Given the description of an element on the screen output the (x, y) to click on. 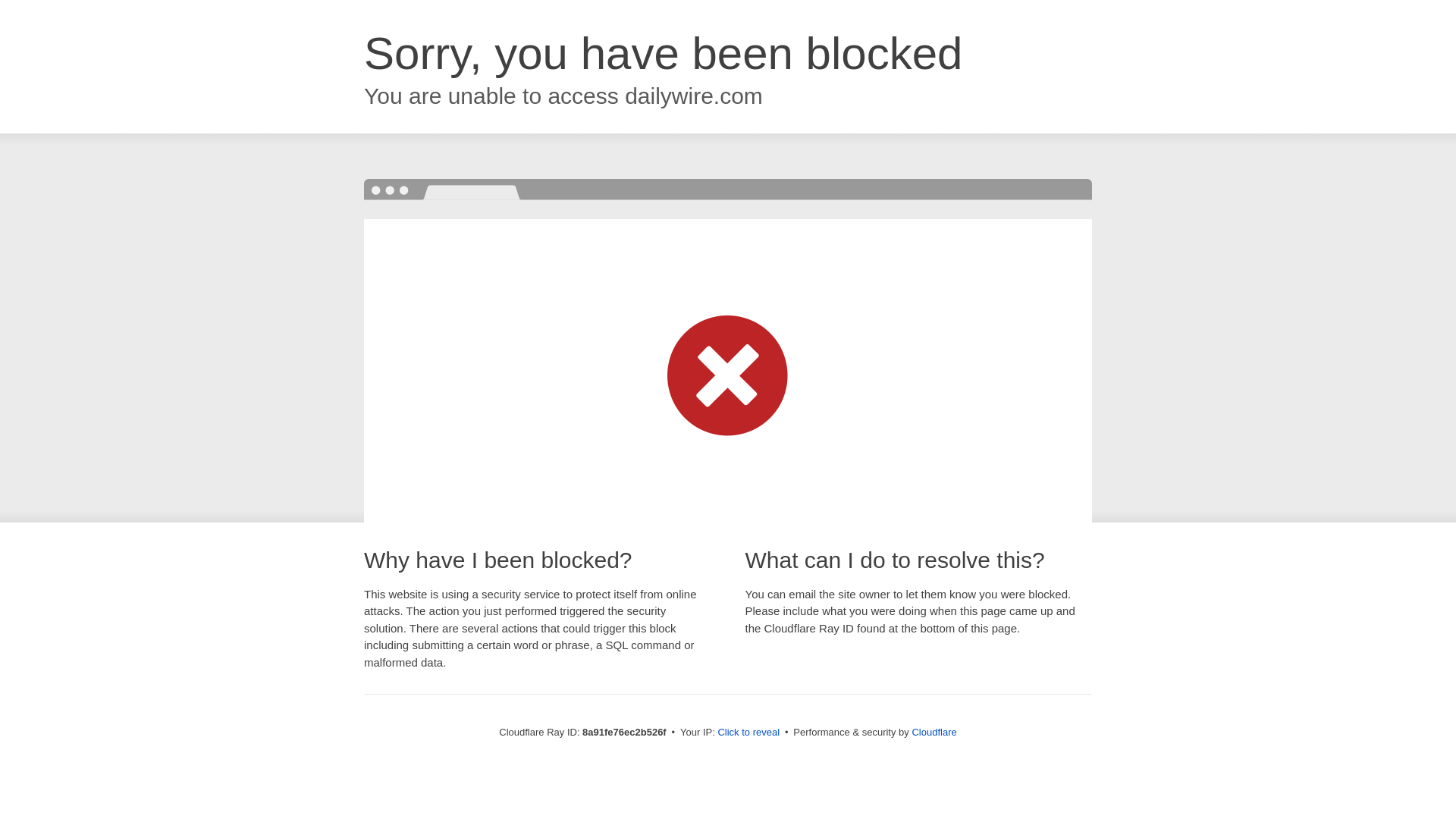
Click to reveal (747, 732)
Cloudflare (933, 731)
